Given the description of an element on the screen output the (x, y) to click on. 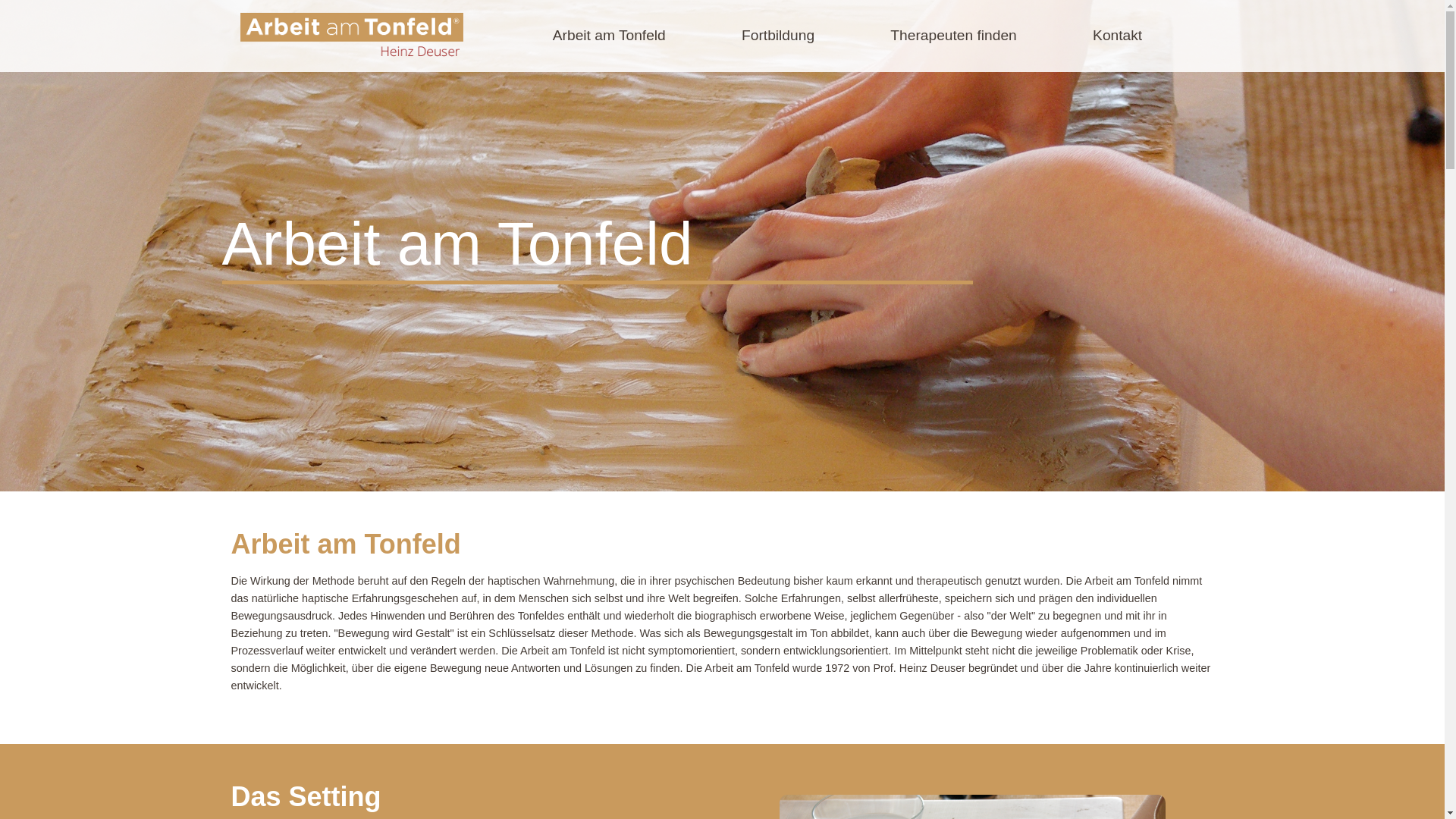
Fortbildung (777, 35)
Kontakt (1117, 35)
Arbeit am Tonfeld (608, 35)
Therapeuten finden (952, 35)
